Given the description of an element on the screen output the (x, y) to click on. 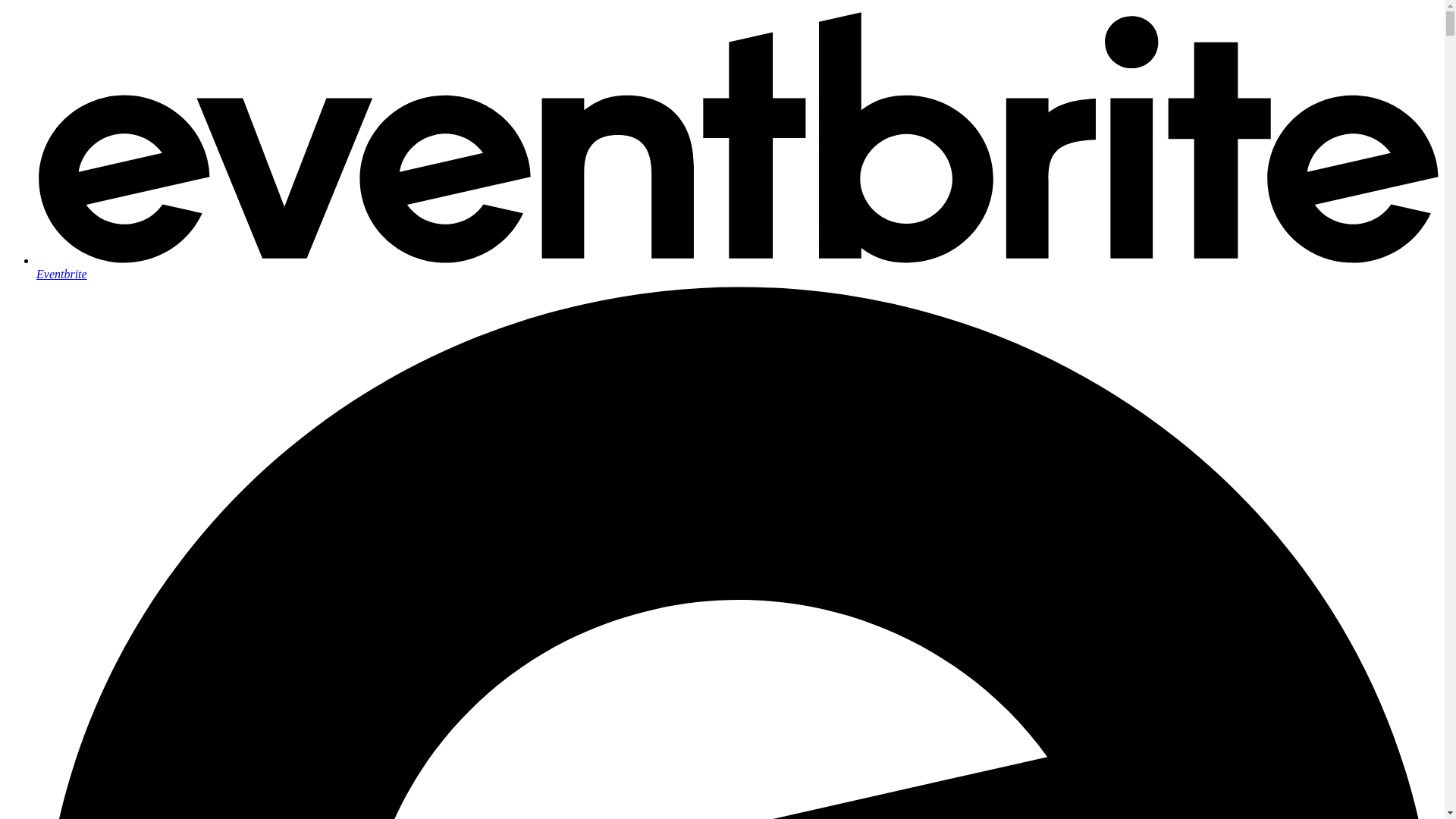
Eventbrite Element type: text (737, 267)
